Given the description of an element on the screen output the (x, y) to click on. 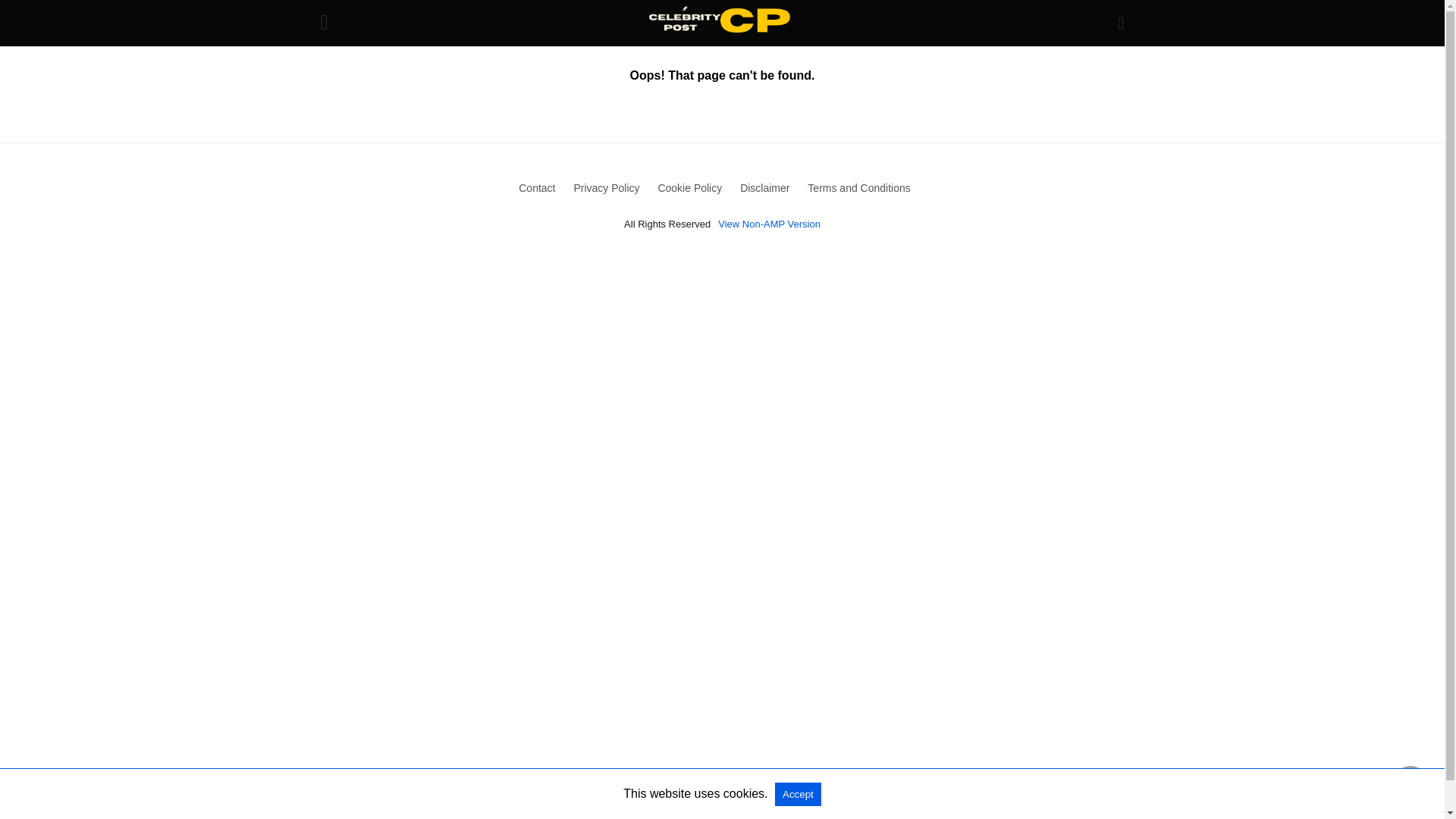
Contact (536, 187)
Terms and Conditions (859, 187)
Celebrity Post (718, 23)
Disclaimer (764, 187)
back to top (1410, 784)
View Non-AMP Version (769, 224)
Privacy Policy (606, 187)
Cookie Policy (690, 187)
View Non-AMP Version (769, 224)
Accept (797, 793)
